Given the description of an element on the screen output the (x, y) to click on. 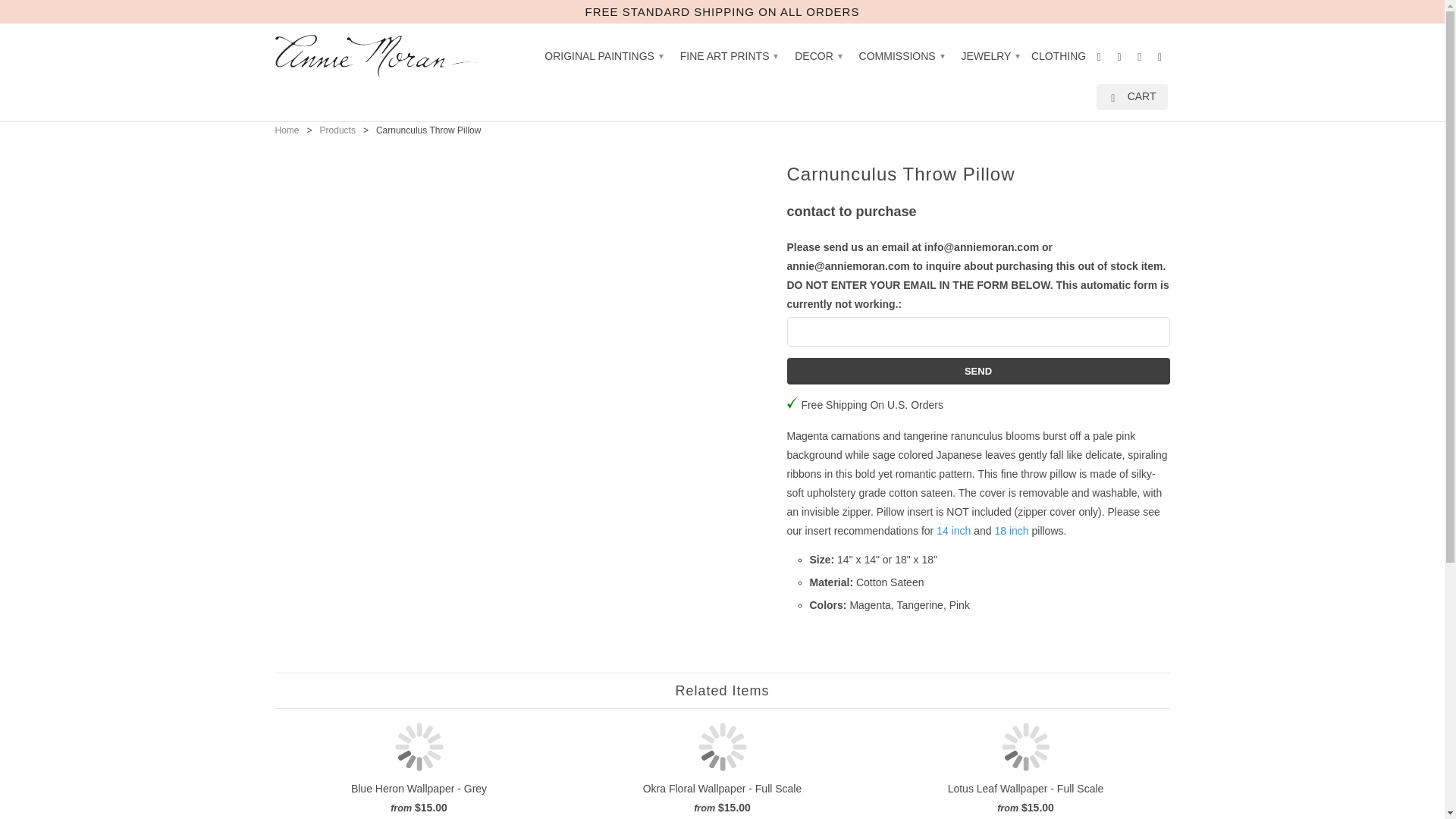
Annie Moran (286, 130)
Send (978, 370)
Products (337, 130)
Annie Moran (380, 55)
